Given the description of an element on the screen output the (x, y) to click on. 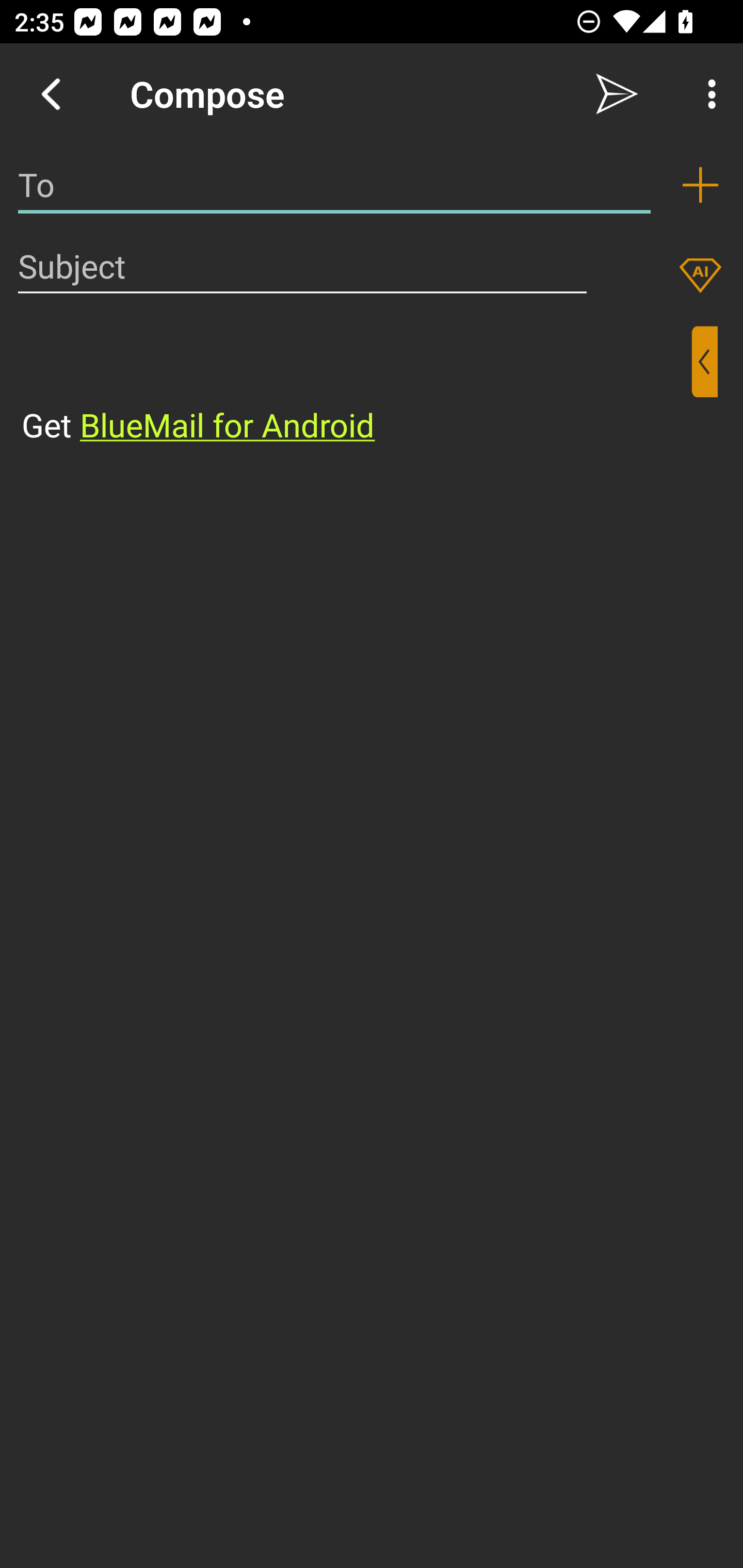
Navigate up (50, 93)
Send (616, 93)
More Options (706, 93)
To (334, 184)
Add recipient (To) (699, 184)
Subject (302, 266)


⁣Get BlueMail for Android ​ (355, 386)
